Given the description of an element on the screen output the (x, y) to click on. 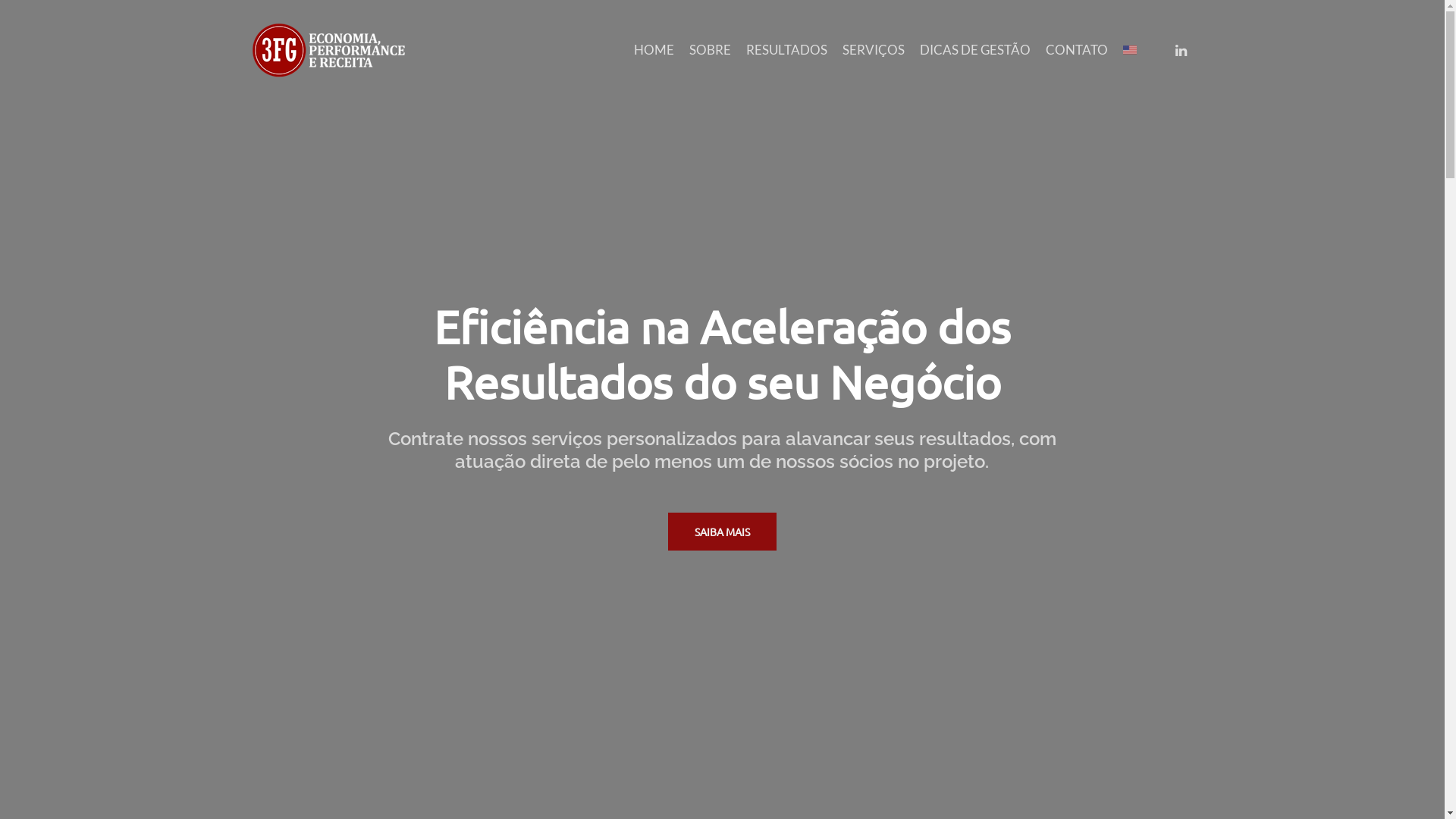
SAIBA MAIS Element type: text (722, 531)
RESULTADOS Element type: text (786, 48)
CONTATO Element type: text (1076, 48)
linkedin Element type: text (1180, 49)
HOME Element type: text (653, 48)
SOBRE Element type: text (710, 48)
